Given the description of an element on the screen output the (x, y) to click on. 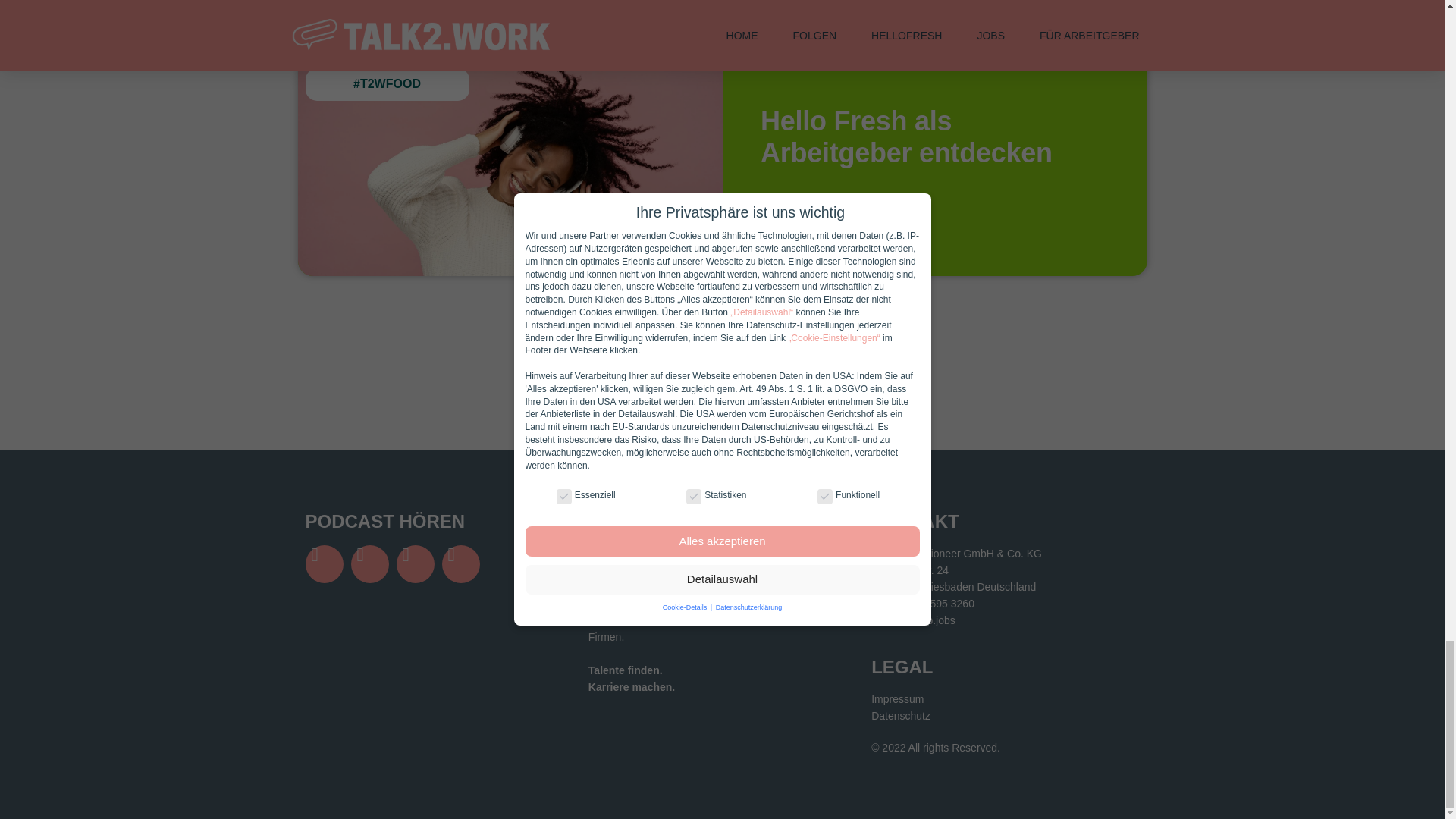
Arbeitgeberprofil (827, 201)
Impressum (1004, 699)
Hello Fresh als Arbeitgeber entdecken (906, 136)
Alle Jobs ansehen (721, 371)
Datenschutz (1004, 715)
